Given the description of an element on the screen output the (x, y) to click on. 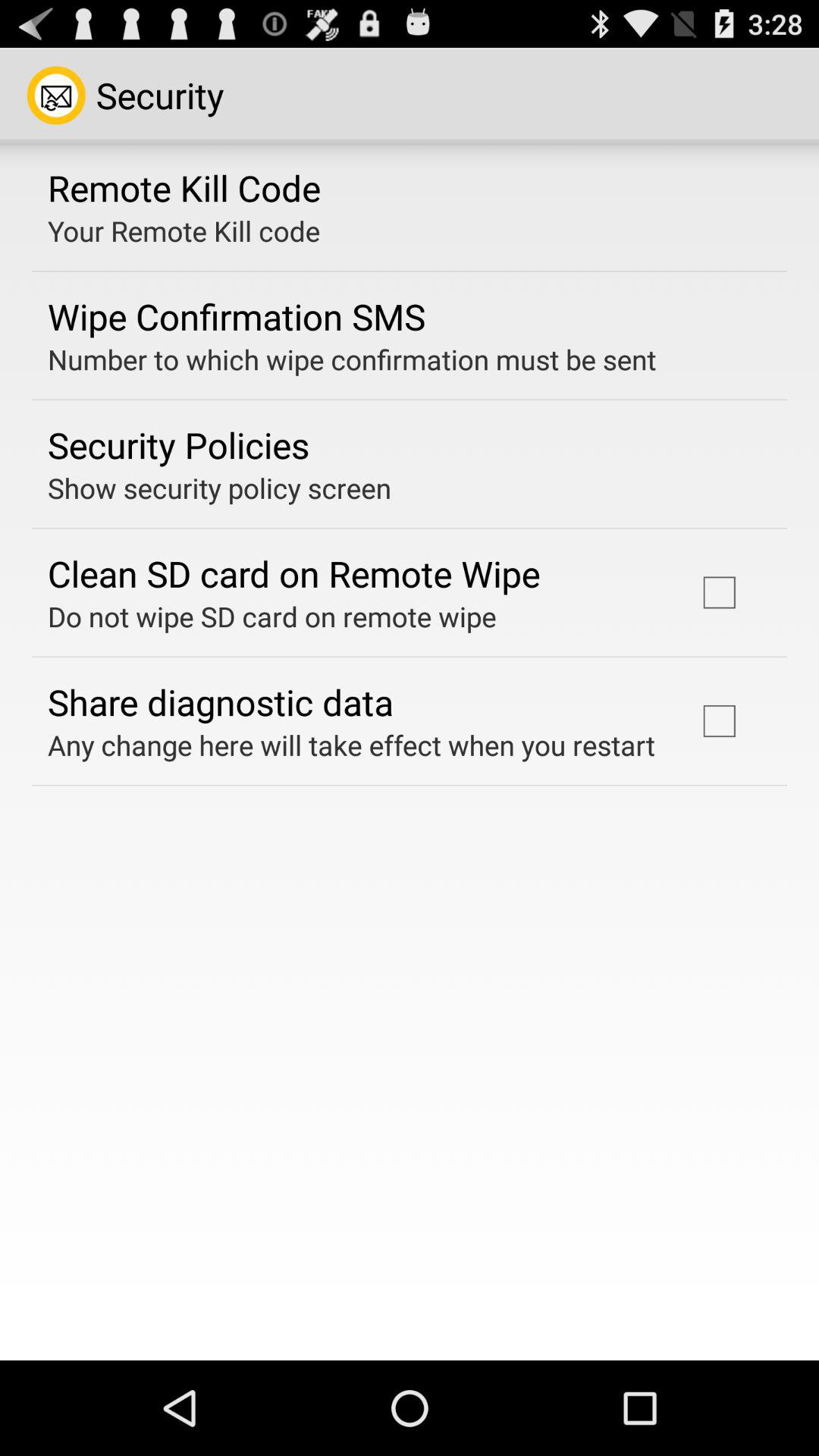
choose app above clean sd card item (219, 487)
